Given the description of an element on the screen output the (x, y) to click on. 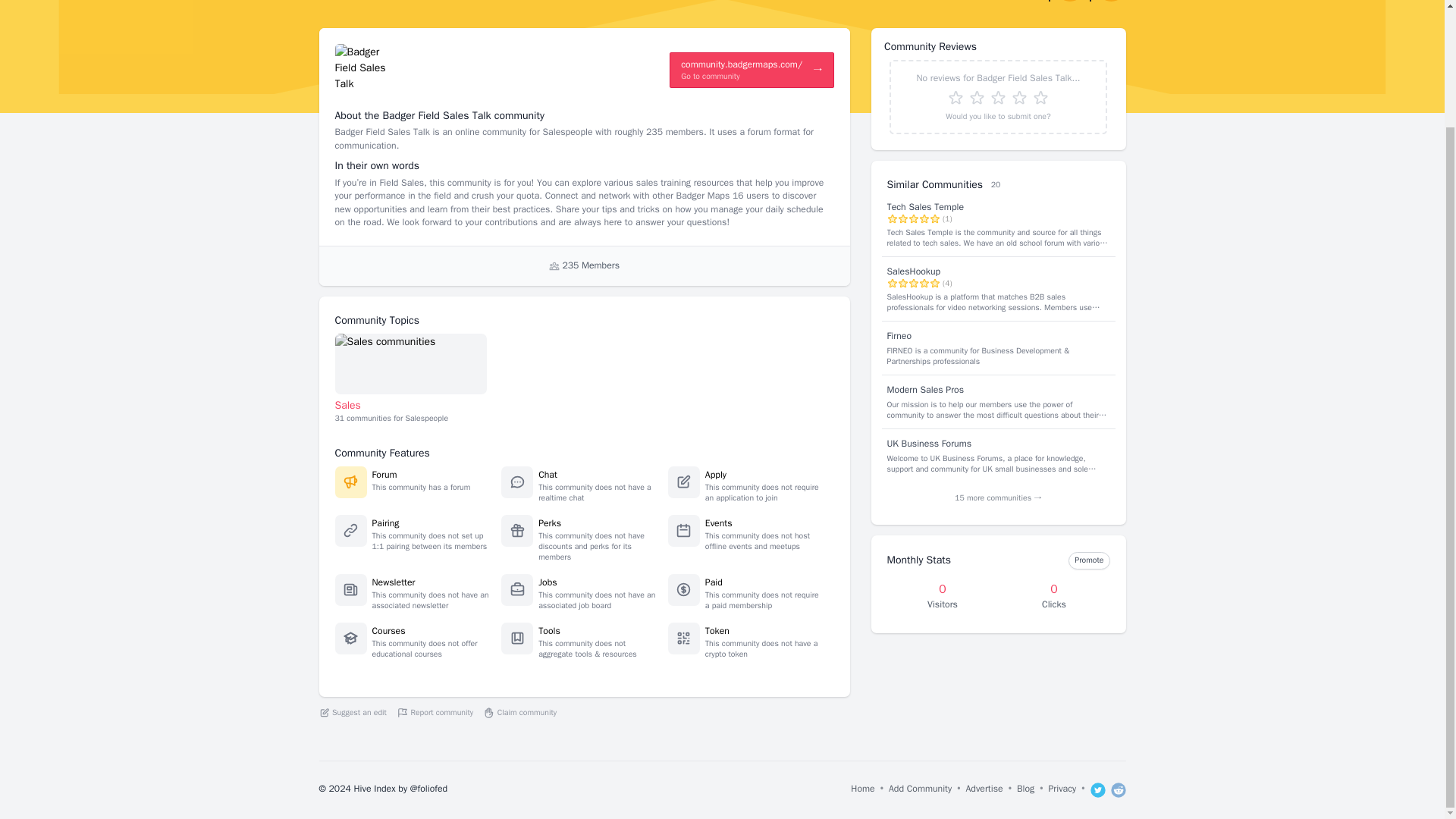
Newsletter (392, 582)
Paid (713, 582)
Claim community (519, 712)
Perks (549, 522)
Courses (387, 630)
Home (862, 789)
Blog (1024, 789)
Add Community (920, 789)
Privacy (1061, 789)
Apply (715, 474)
Advertise (984, 789)
Promote (1088, 560)
